Given the description of an element on the screen output the (x, y) to click on. 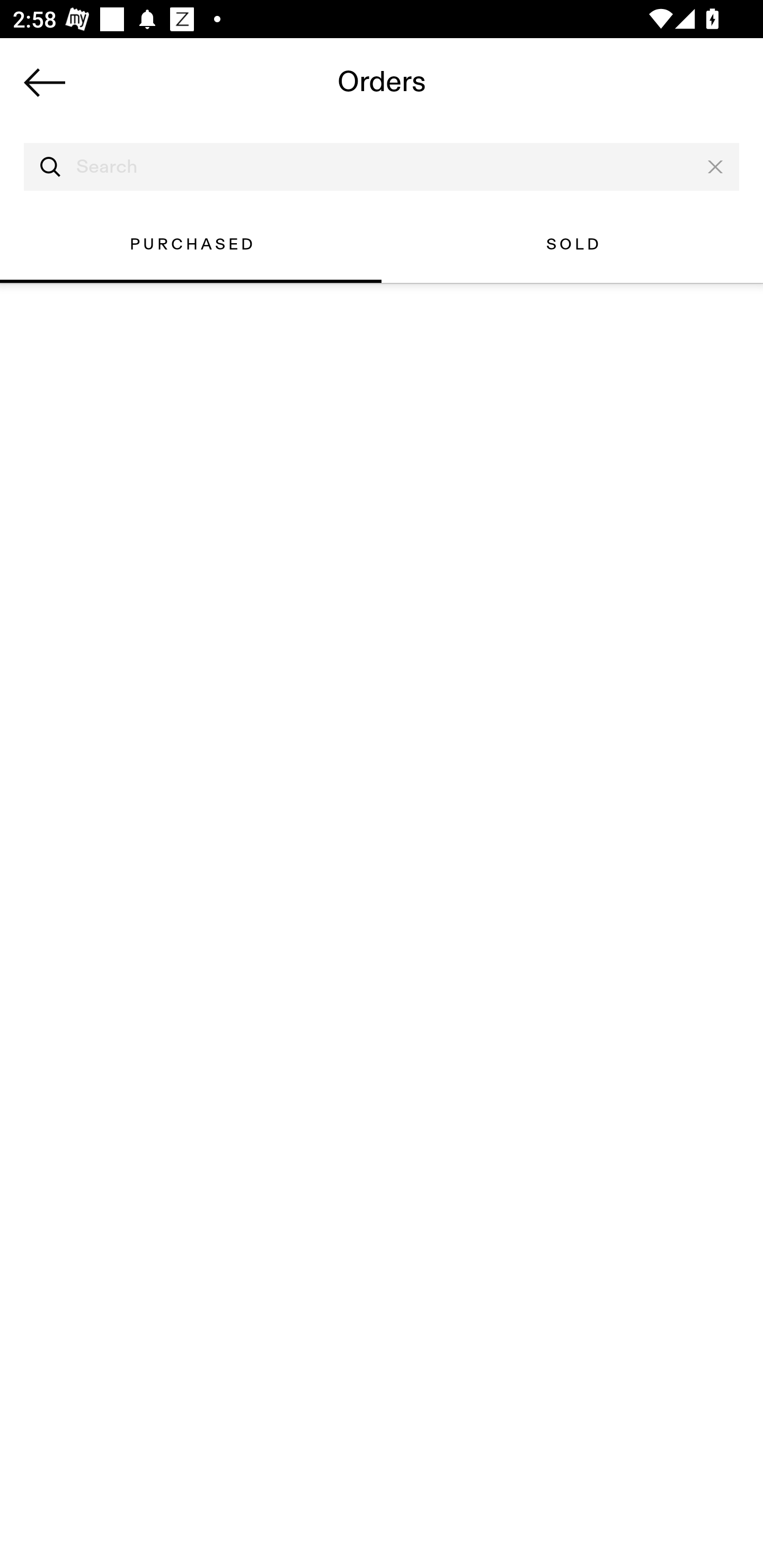
Navigate up (44, 82)
Search (381, 166)
SOLD (572, 244)
